Given the description of an element on the screen output the (x, y) to click on. 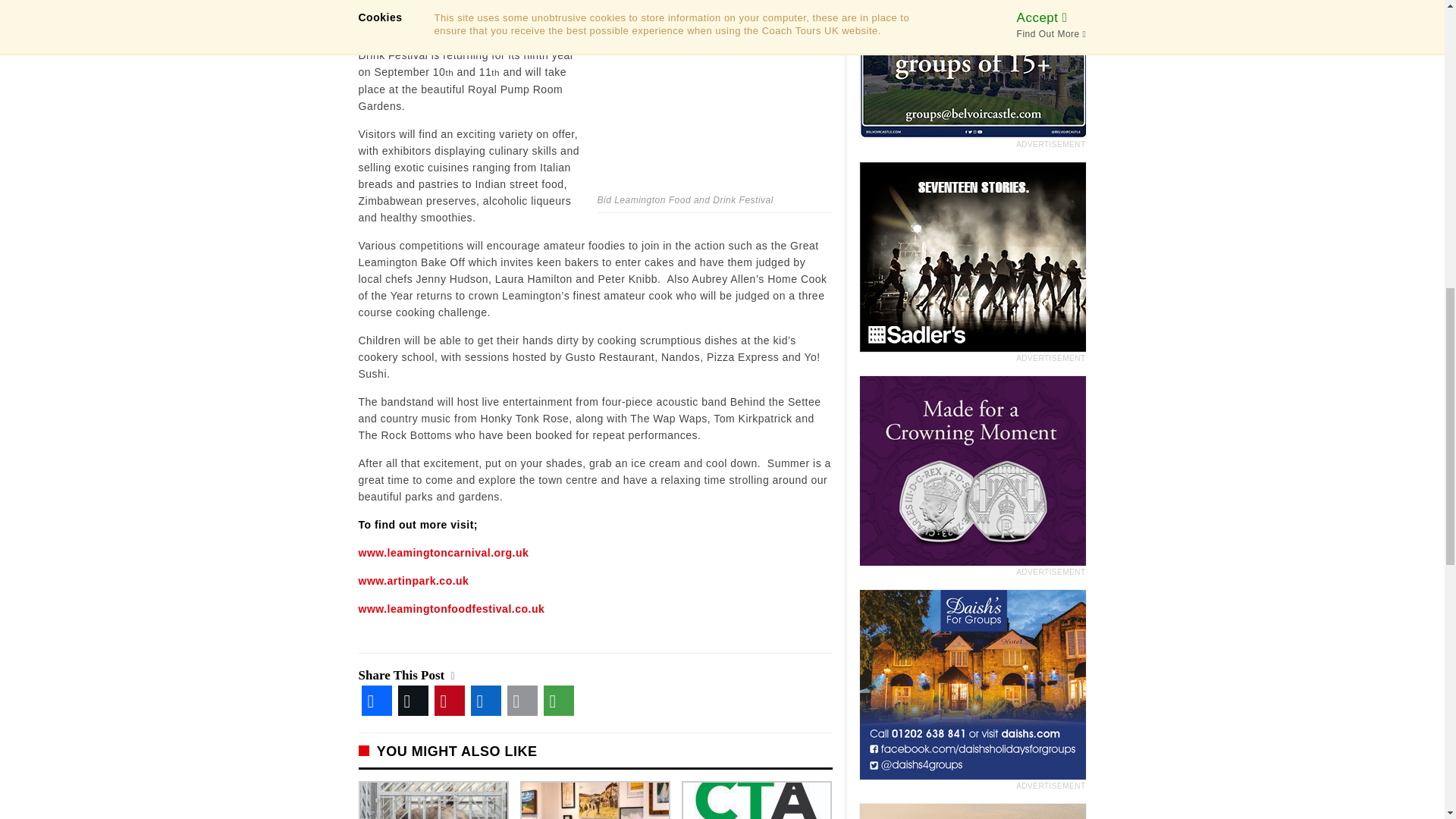
www.artinpark.co.uk (413, 580)
Pinterest (448, 698)
More Options (558, 698)
Major milestone for the pregnant elephants at Blackpool Zoo (433, 800)
LinkedIn (485, 698)
www.leamingtonfoodfestival.co.uk (451, 608)
www.leamingtoncarnival.org.uk (443, 552)
New artwork on show (594, 800)
Email This (521, 698)
Facebook (376, 698)
